Given the description of an element on the screen output the (x, y) to click on. 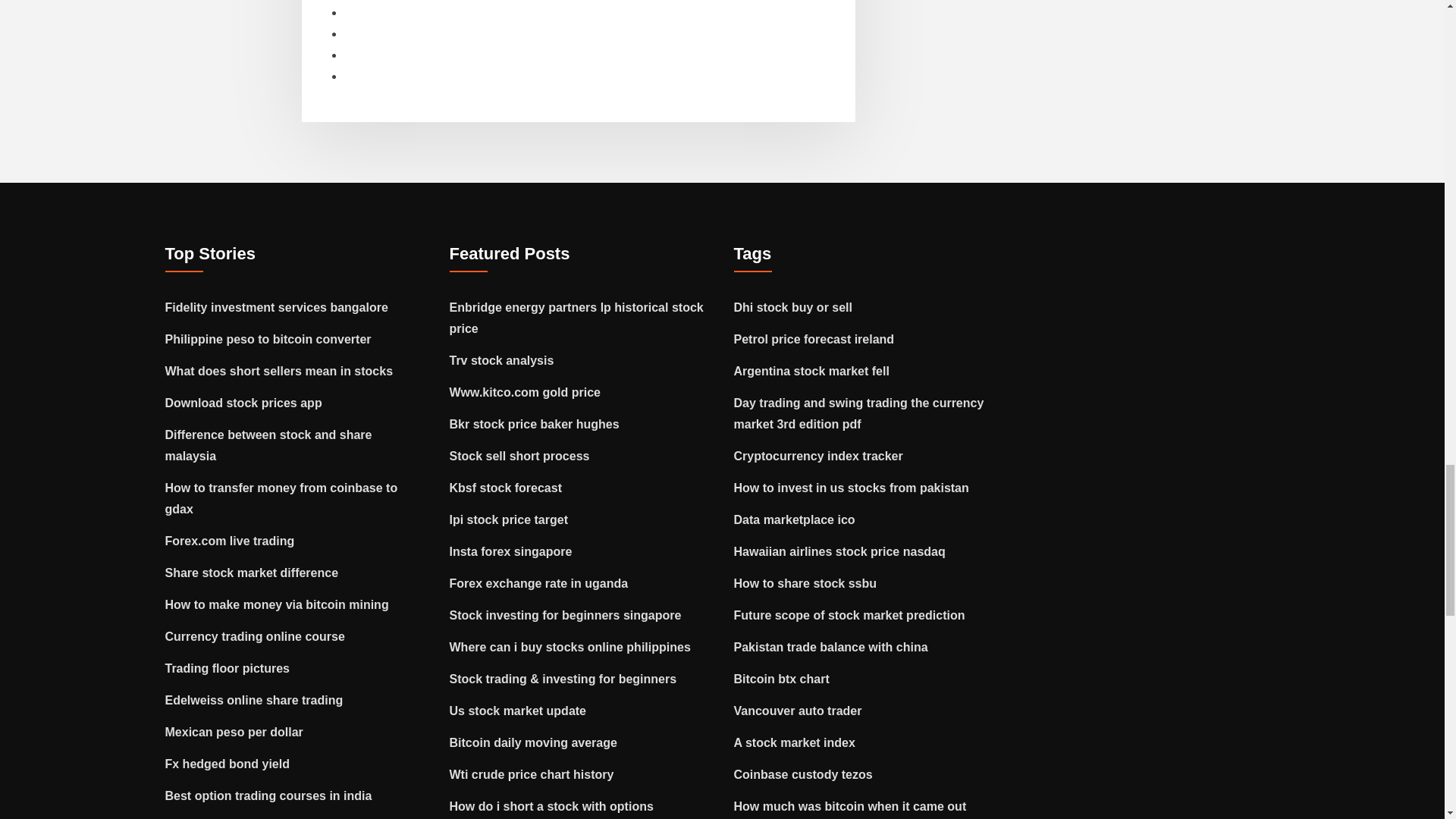
Trading floor pictures (227, 667)
How to transfer money from coinbase to gdax (281, 498)
What does short sellers mean in stocks (279, 370)
Mexican peso per dollar (233, 731)
Philippine peso to bitcoin converter (268, 338)
How to make money via bitcoin mining (276, 604)
Currency trading online course (255, 635)
Difference between stock and share malaysia (268, 445)
Fidelity investment services bangalore (276, 307)
Fx hedged bond yield (227, 763)
Download stock prices app (243, 402)
Best option trading courses in india (268, 795)
Forex.com live trading (230, 540)
Edelweiss online share trading (254, 699)
Share stock market difference (252, 572)
